Given the description of an element on the screen output the (x, y) to click on. 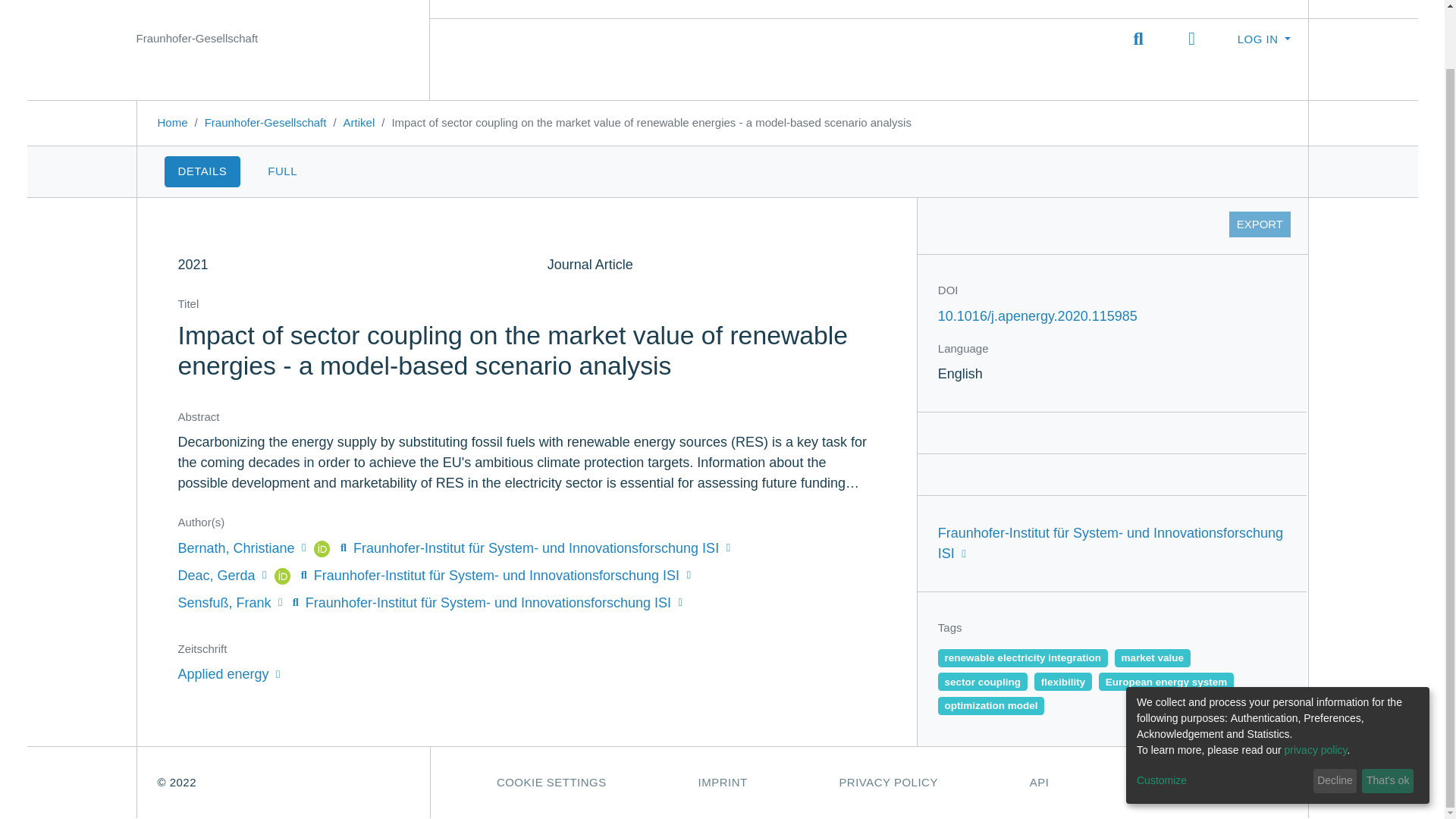
LOG IN (1263, 38)
privacy policy (1316, 686)
Search (1138, 38)
flexibility (1062, 681)
market value (1153, 658)
Deac, Gerda (223, 574)
sector coupling (982, 681)
Full (282, 171)
API (1039, 782)
Home (172, 122)
Artikel (359, 122)
Language switch (1191, 38)
Bernath, Christiane (242, 547)
COOKIE SETTINGS (550, 782)
Applied energy (228, 673)
